Given the description of an element on the screen output the (x, y) to click on. 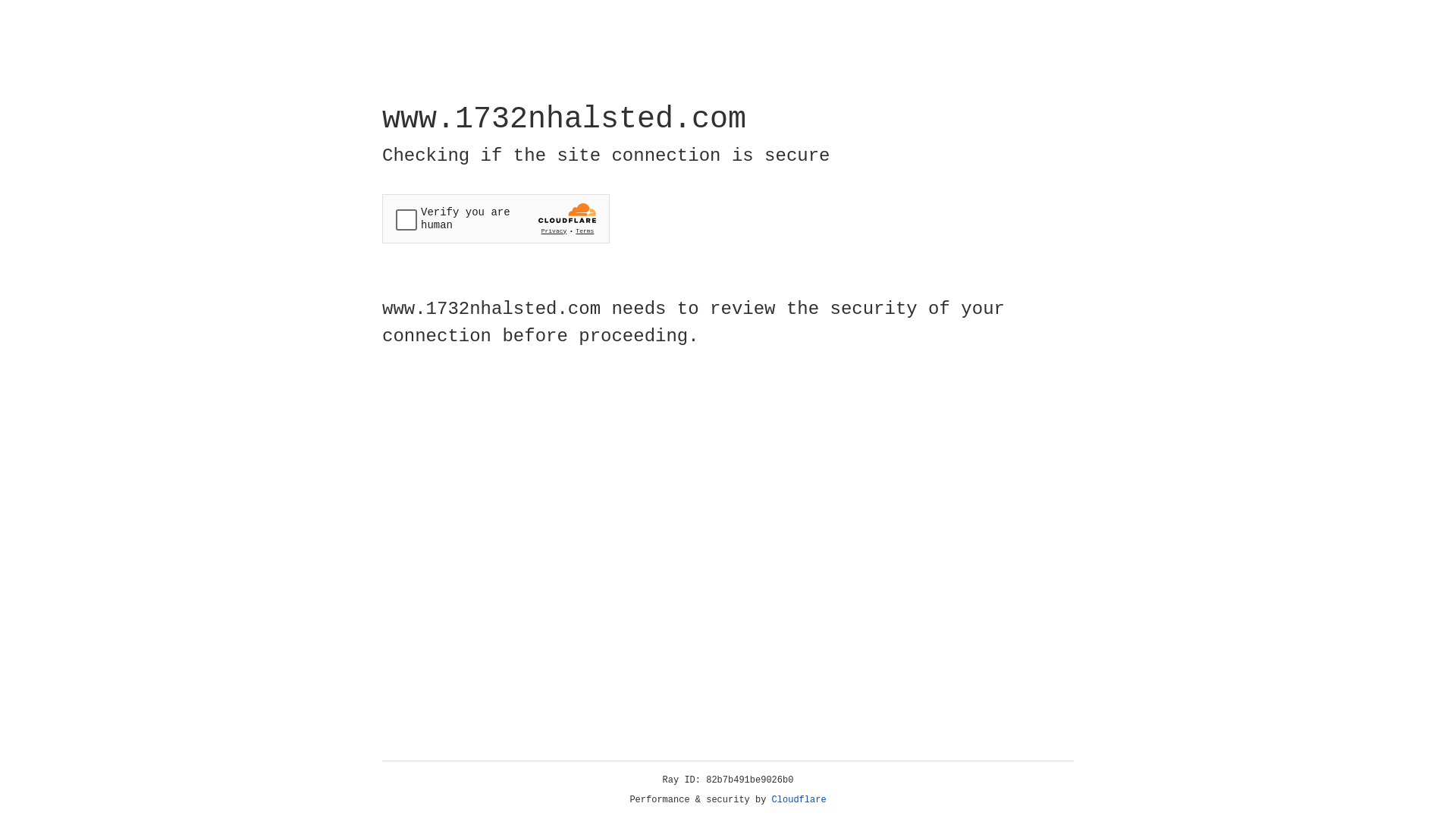
Cloudflare Element type: text (798, 799)
Widget containing a Cloudflare security challenge Element type: hover (495, 218)
